Given the description of an element on the screen output the (x, y) to click on. 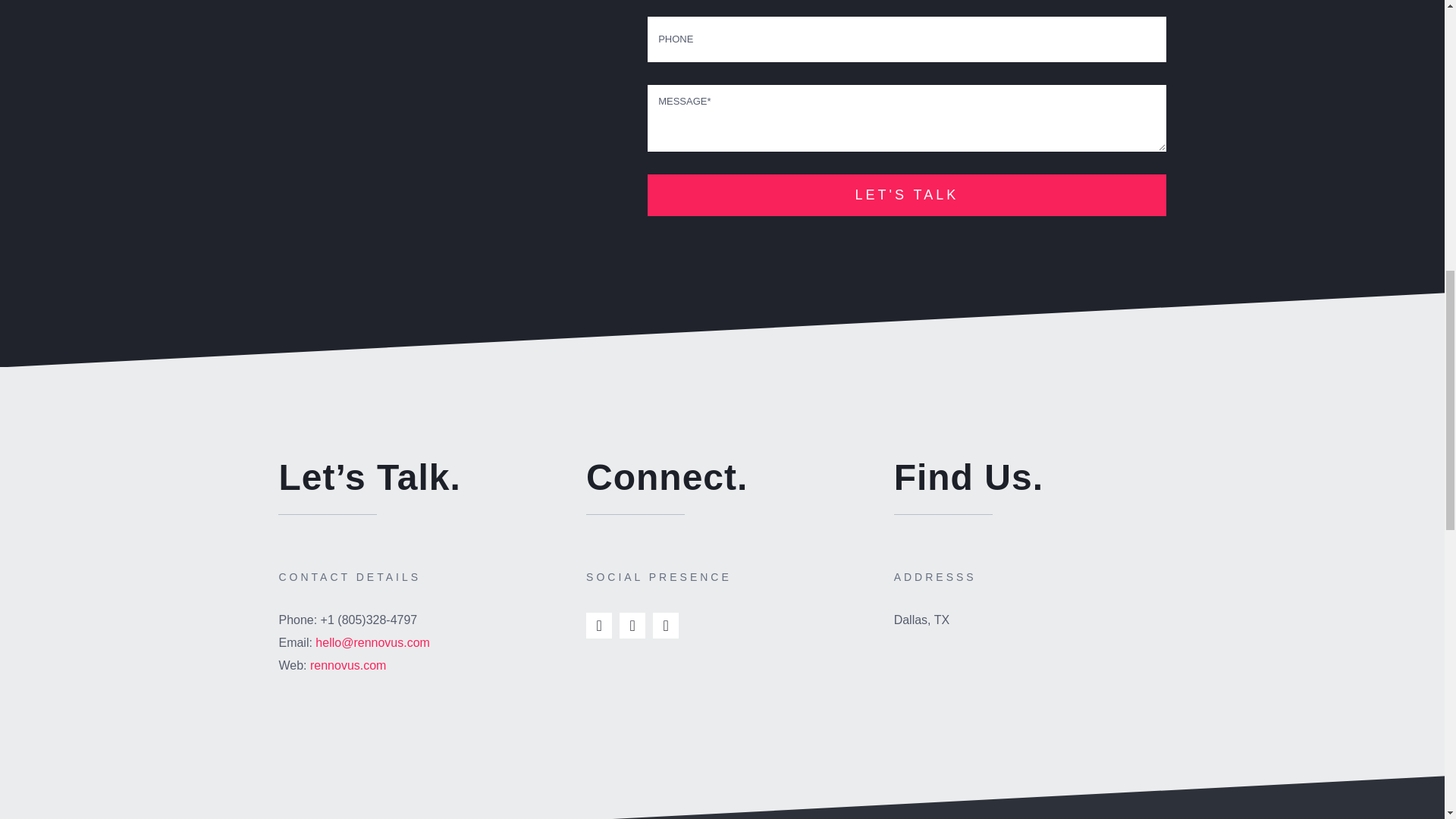
LET'S TALK (906, 113)
LET'S TALK (906, 195)
X (632, 625)
Facebook (598, 625)
Instagram (665, 625)
rennovus.com (348, 665)
